Given the description of an element on the screen output the (x, y) to click on. 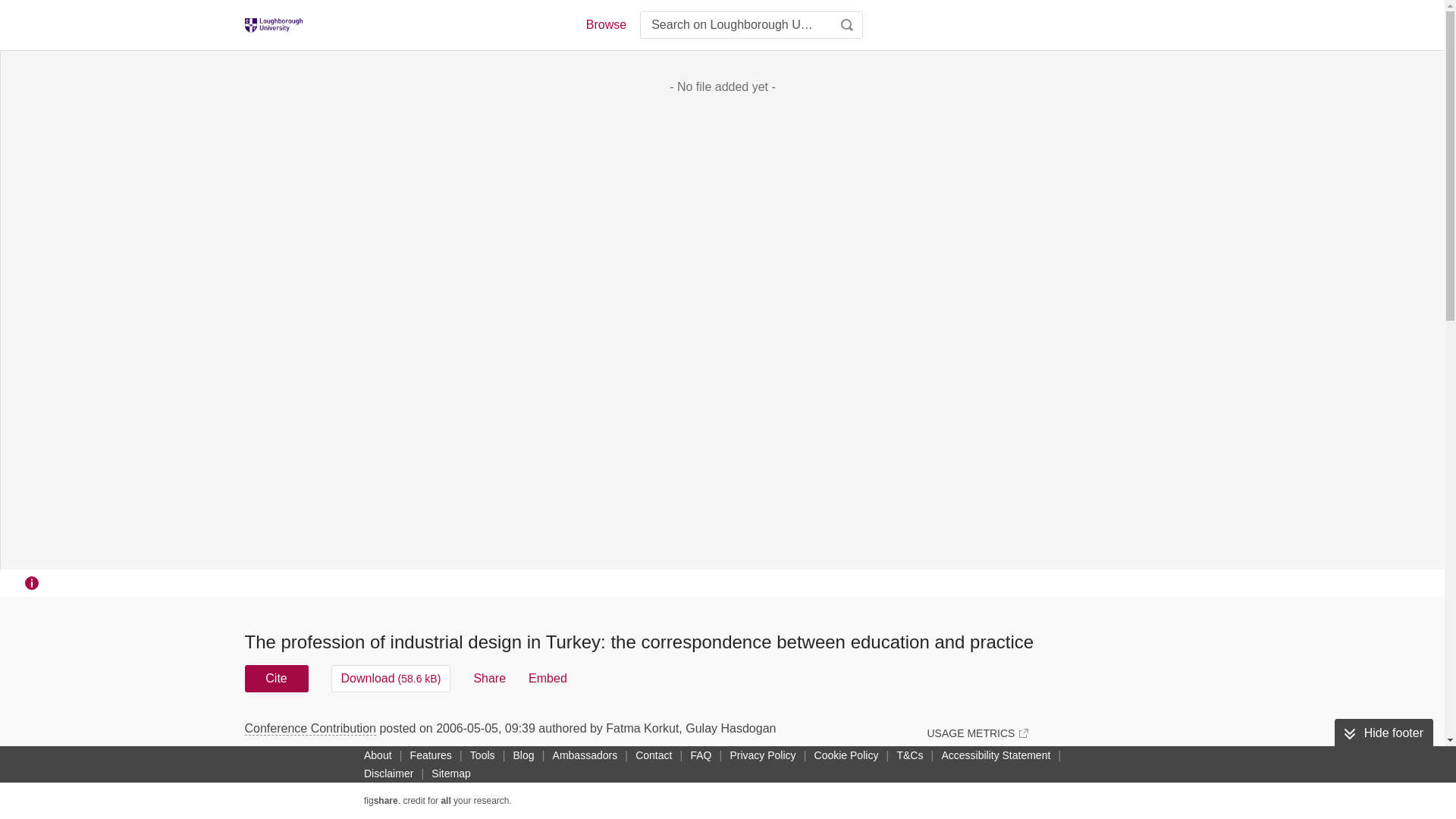
Contact (653, 755)
Accessibility Statement (995, 755)
Share (489, 678)
Browse (605, 24)
Ambassadors (585, 755)
Embed (547, 678)
About (377, 755)
USAGE METRICS (976, 732)
Cookie Policy (846, 755)
FAQ (700, 755)
Blog (523, 755)
Tools (482, 755)
Hide footer (1383, 733)
Features (431, 755)
Sitemap (450, 773)
